Given the description of an element on the screen output the (x, y) to click on. 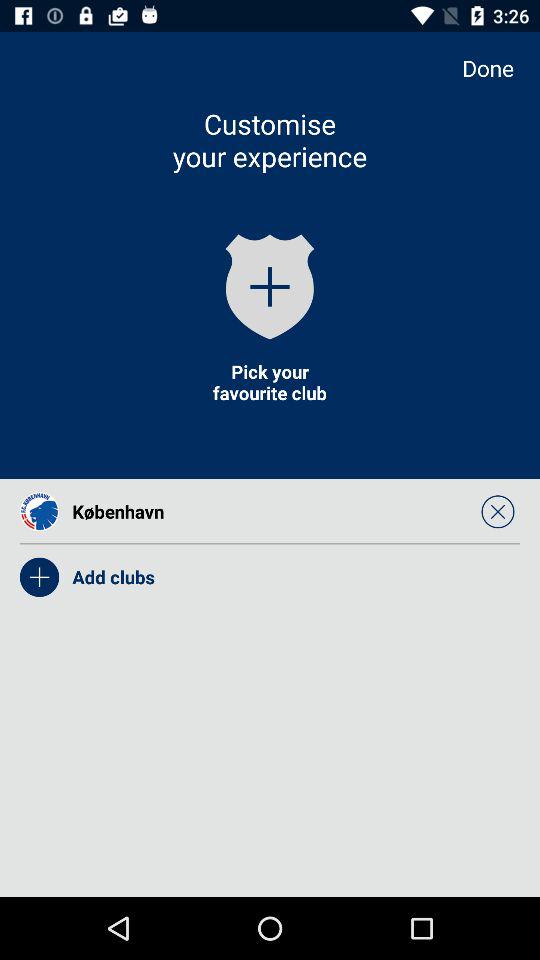
tap icon below done app (497, 511)
